Given the description of an element on the screen output the (x, y) to click on. 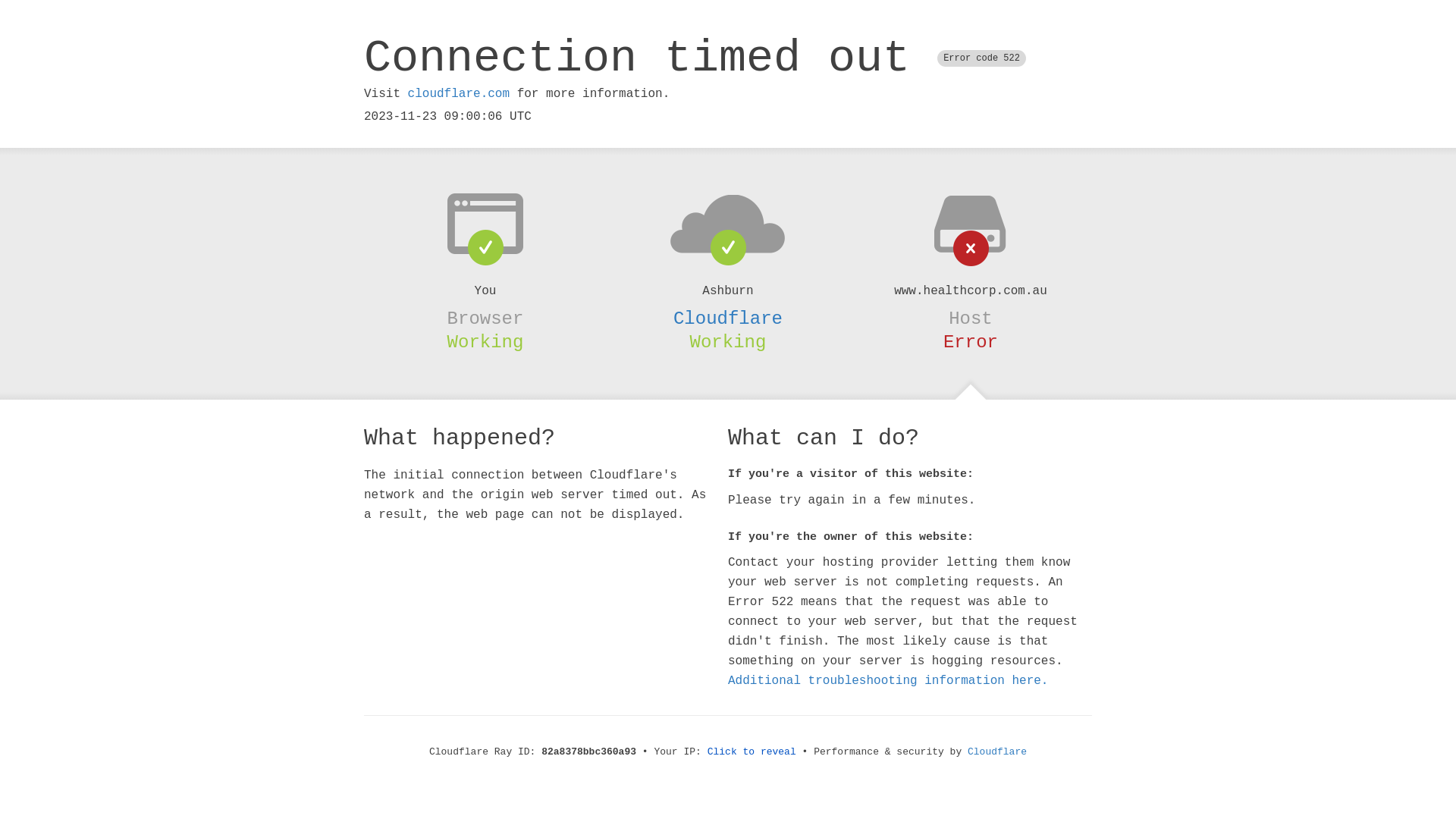
Cloudflare Element type: text (996, 751)
Cloudflare Element type: text (727, 318)
Click to reveal Element type: text (751, 751)
Additional troubleshooting information here. Element type: text (888, 680)
cloudflare.com Element type: text (458, 93)
